Given the description of an element on the screen output the (x, y) to click on. 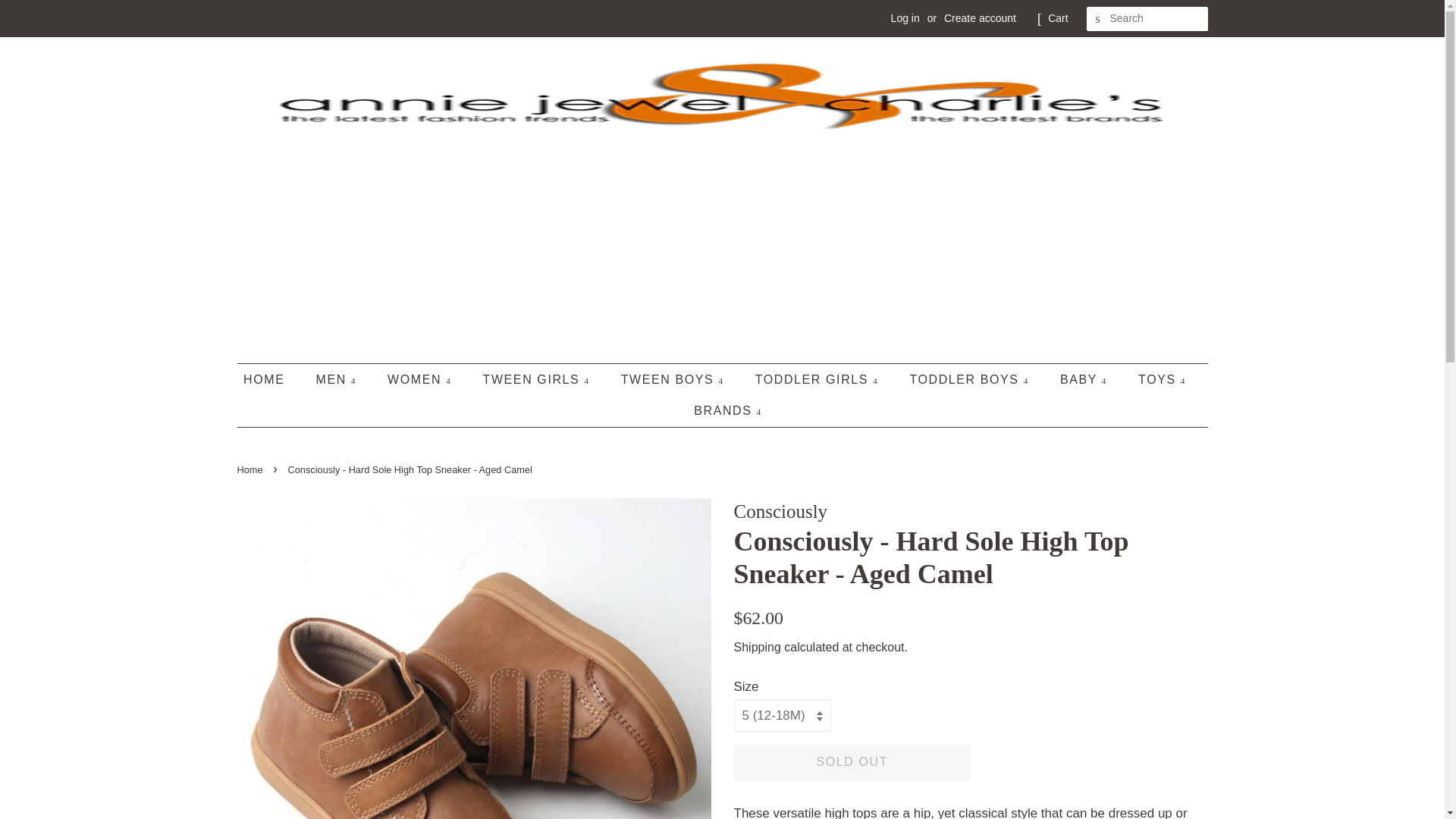
Create account (979, 18)
Log in (905, 18)
Back to the frontpage (250, 469)
Cart (1057, 18)
SEARCH (1097, 18)
